Given the description of an element on the screen output the (x, y) to click on. 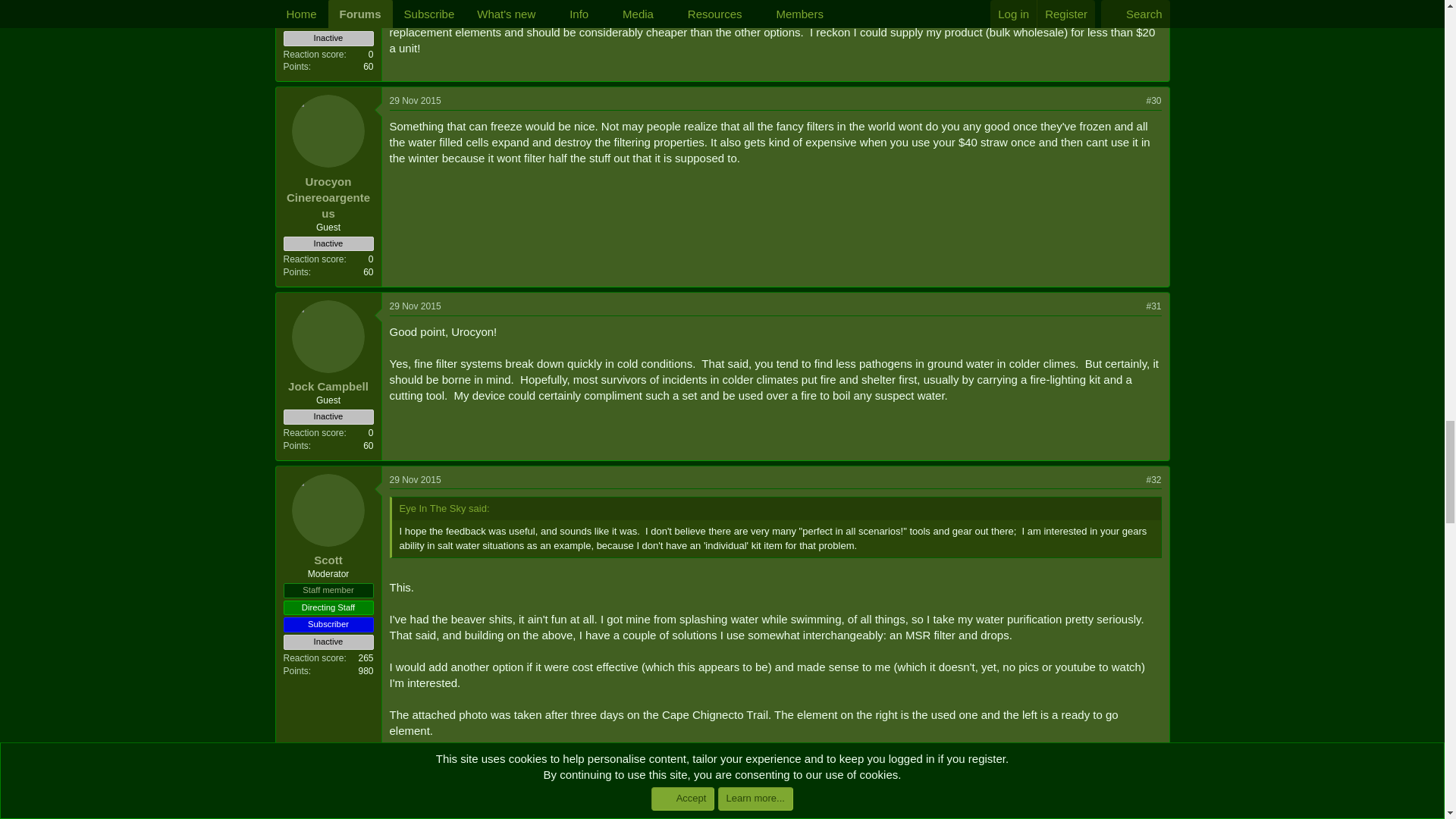
29 Nov 2015 at 13:51 (415, 100)
29 Nov 2015 at 21:37 (415, 480)
29 Nov 2015 at 20:32 (415, 306)
